Given the description of an element on the screen output the (x, y) to click on. 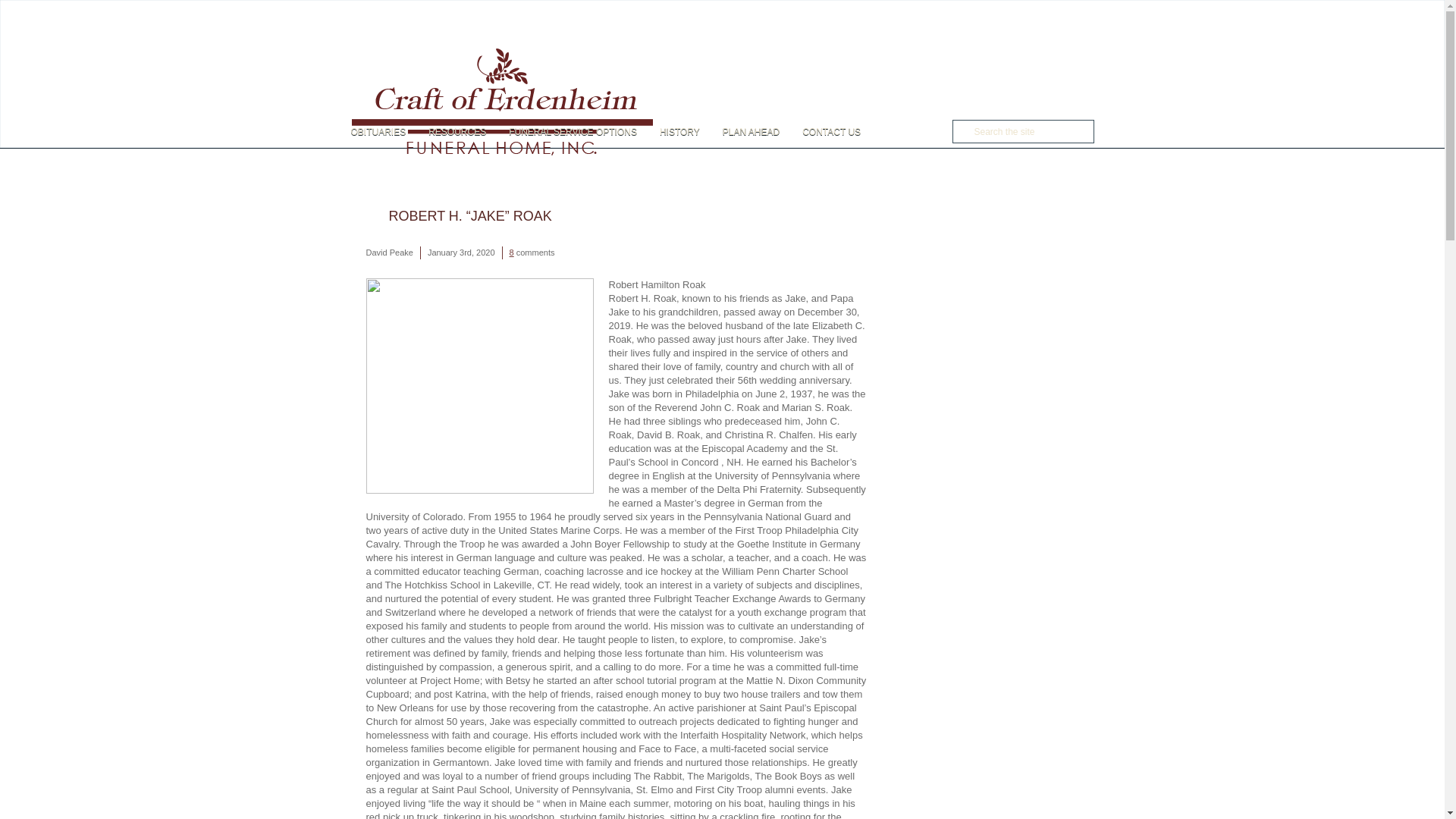
HISTORY (679, 131)
CONTACT US (831, 131)
PLAN AHEAD (750, 131)
Search the site (1022, 131)
OBITUARIES (383, 131)
FUNERAL SERVICE OPTIONS (572, 131)
RESOURCES (456, 131)
